Given the description of an element on the screen output the (x, y) to click on. 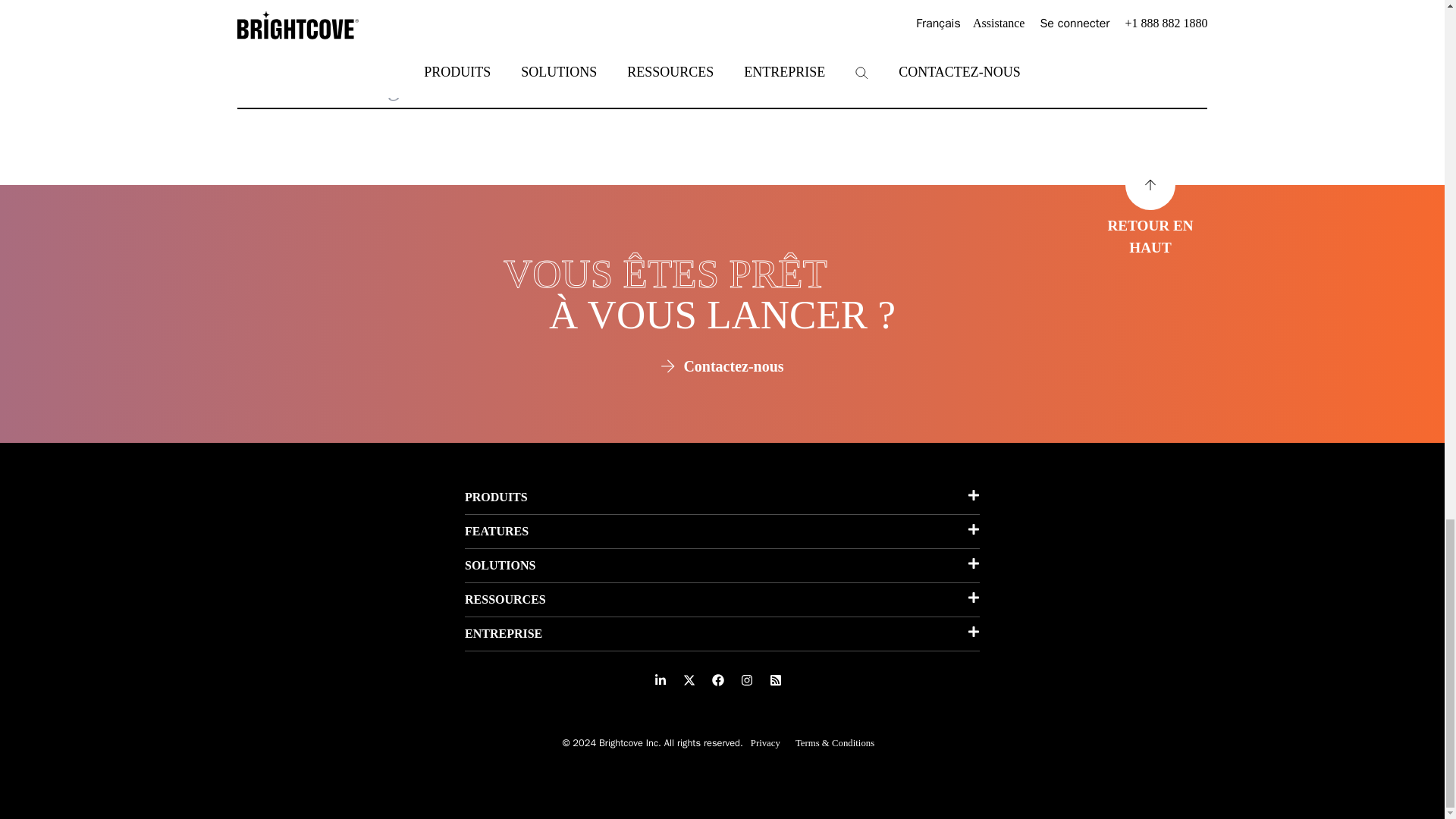
Contactez-nous (722, 365)
PRODUITS (721, 497)
RECHERCHE (1127, 91)
